Given the description of an element on the screen output the (x, y) to click on. 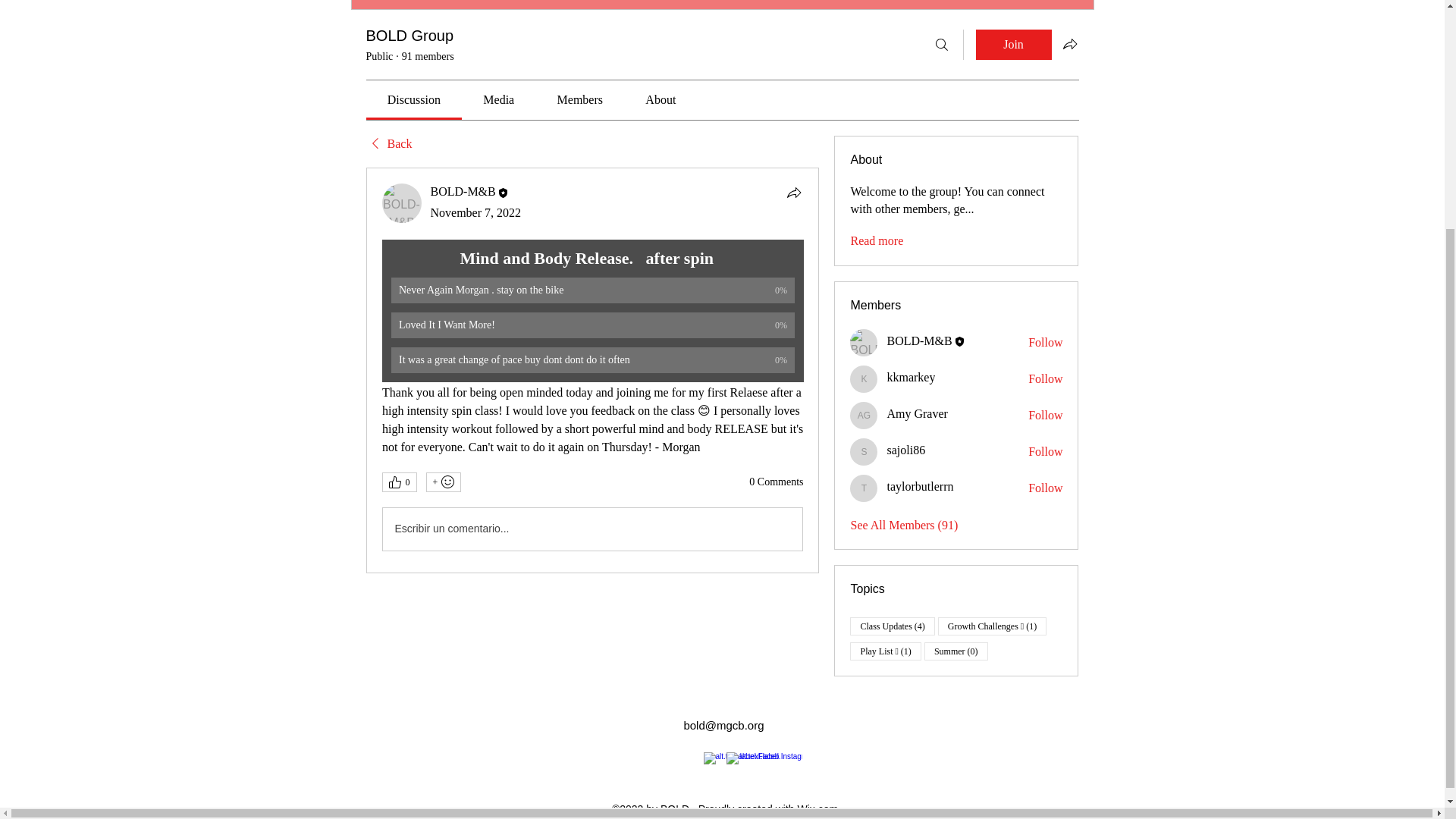
Follow (1044, 451)
Amy Graver (863, 415)
0 Comments (776, 482)
kkmarkey (910, 377)
sajoli86 (905, 449)
Follow (1044, 379)
Back (388, 143)
Follow (1044, 487)
taylorbutlerrn (863, 488)
Amy Graver (916, 413)
